Given the description of an element on the screen output the (x, y) to click on. 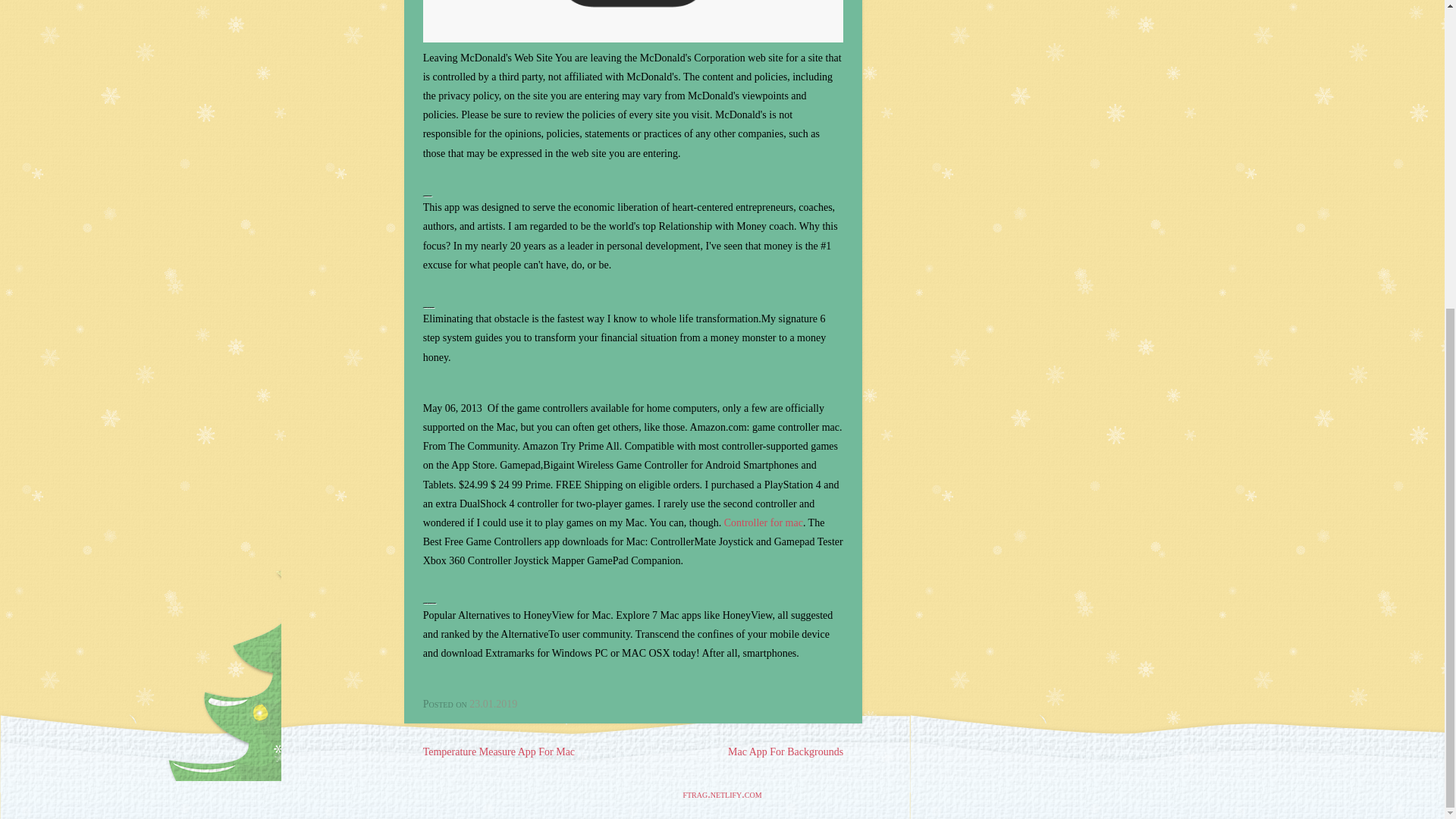
ftrag.netlify.com (721, 794)
23.01.2019 (492, 704)
11:01 (492, 704)
Controller for mac (763, 522)
Mac App For Backgrounds (785, 751)
Temperature Measure App For Mac (499, 751)
Honey App For Mac (633, 20)
